Given the description of an element on the screen output the (x, y) to click on. 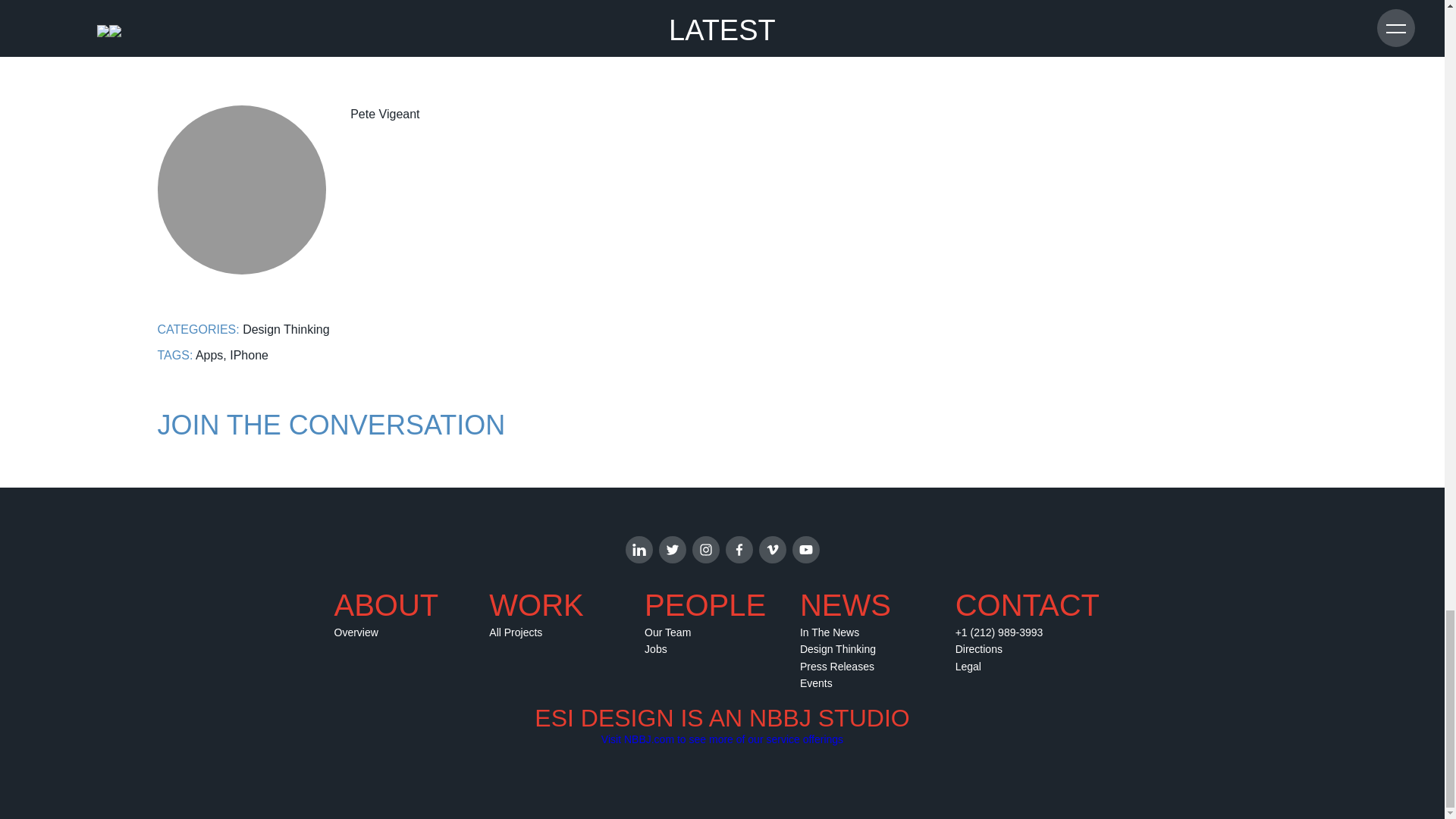
Apps (208, 354)
Design Thinking (286, 328)
IPhone (248, 354)
IMDB (173, 6)
